Given the description of an element on the screen output the (x, y) to click on. 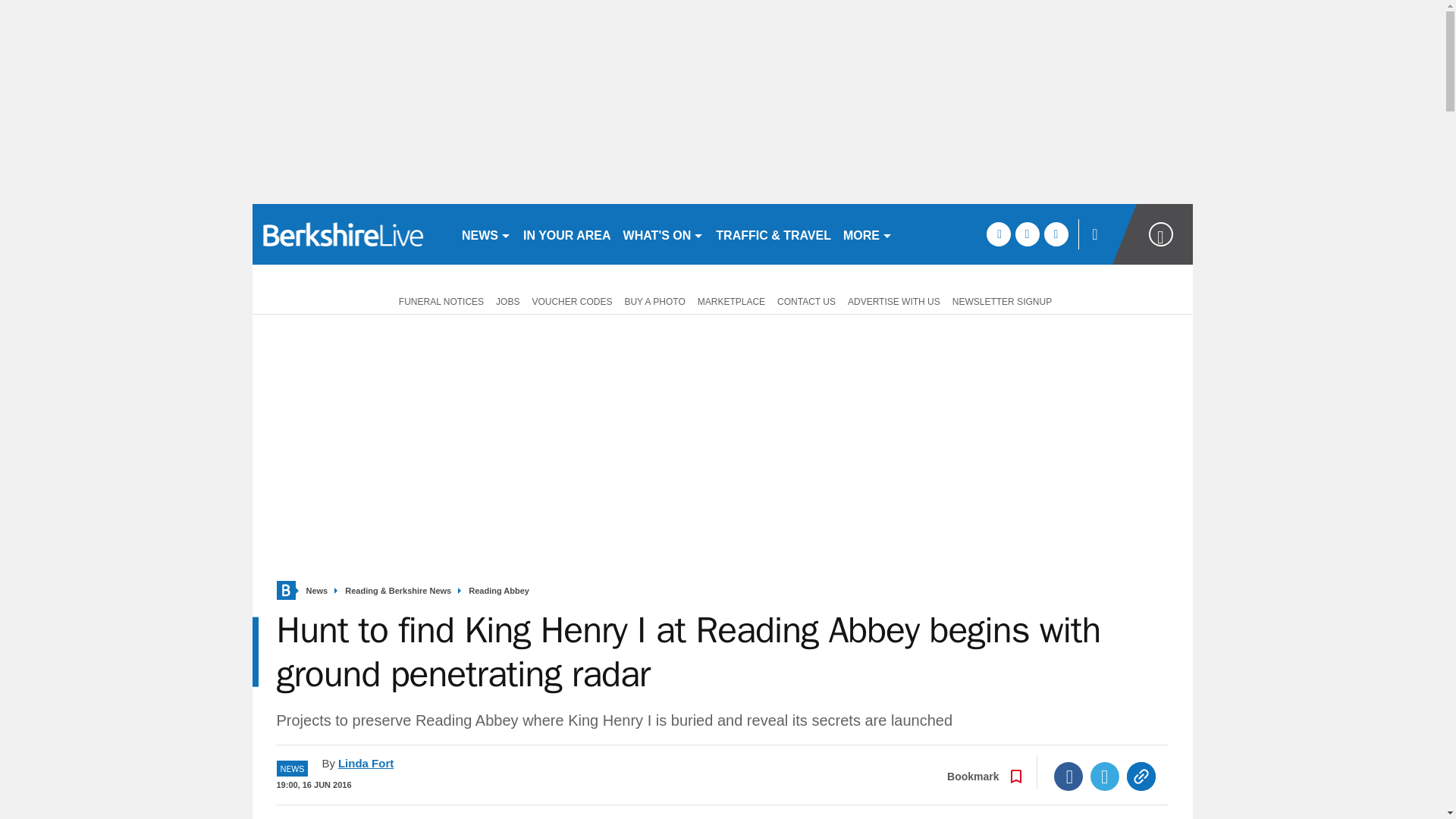
WHAT'S ON (663, 233)
getreading (349, 233)
instagram (1055, 233)
MORE (867, 233)
Twitter (1104, 776)
NEWS (485, 233)
IN YOUR AREA (566, 233)
twitter (1026, 233)
Facebook (1068, 776)
facebook (997, 233)
